Given the description of an element on the screen output the (x, y) to click on. 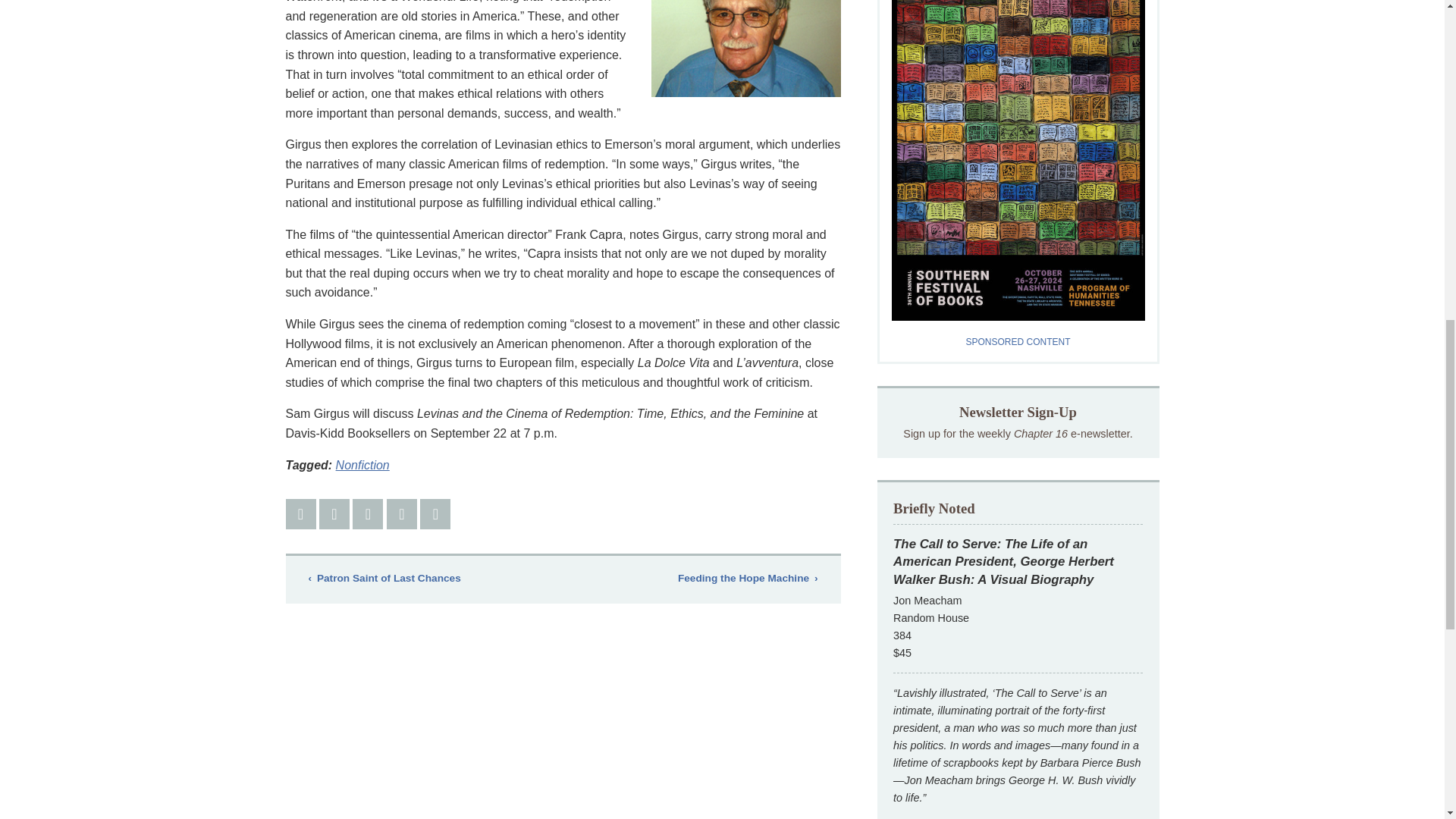
Tweet (333, 513)
Feeding the Hope Machine (747, 577)
Nonfiction (363, 464)
Share on Facebook (300, 513)
Print (434, 513)
Patron Saint of Last Chances (384, 577)
Email (401, 513)
